Given the description of an element on the screen output the (x, y) to click on. 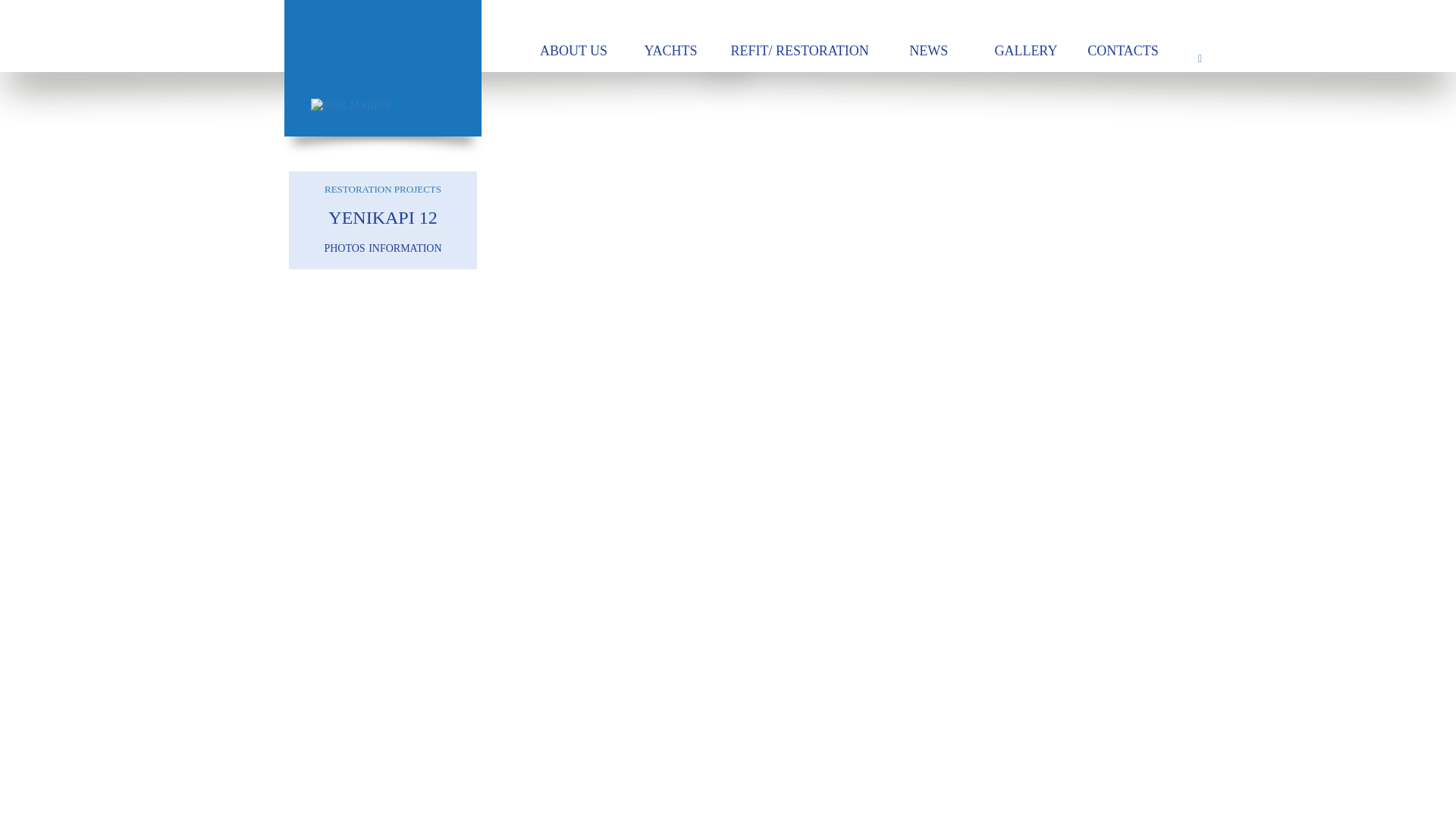
YACHTS (670, 51)
RESTORATION PROJECTS (382, 189)
GALLERY (1026, 51)
INFORMATION (404, 247)
PHOTOS (344, 247)
ABOUT US (573, 51)
CONTACTS (1122, 51)
NEWS (928, 51)
